Given the description of an element on the screen output the (x, y) to click on. 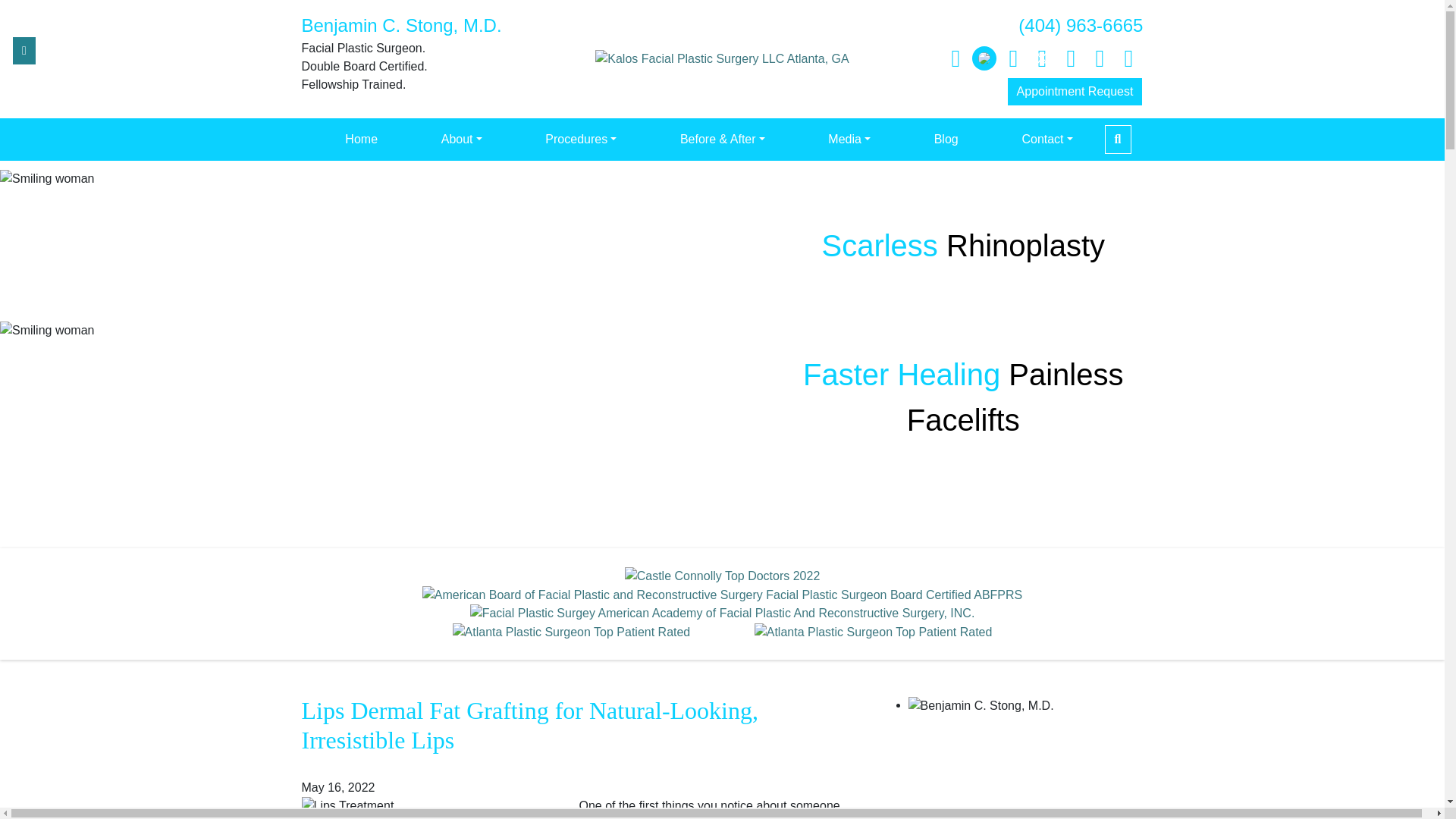
Appointment Request (1074, 91)
Skip to main content (9, 4)
About (461, 139)
Procedures (580, 139)
Benjamin C. Stong, M.D. (401, 25)
Home (361, 139)
